Given the description of an element on the screen output the (x, y) to click on. 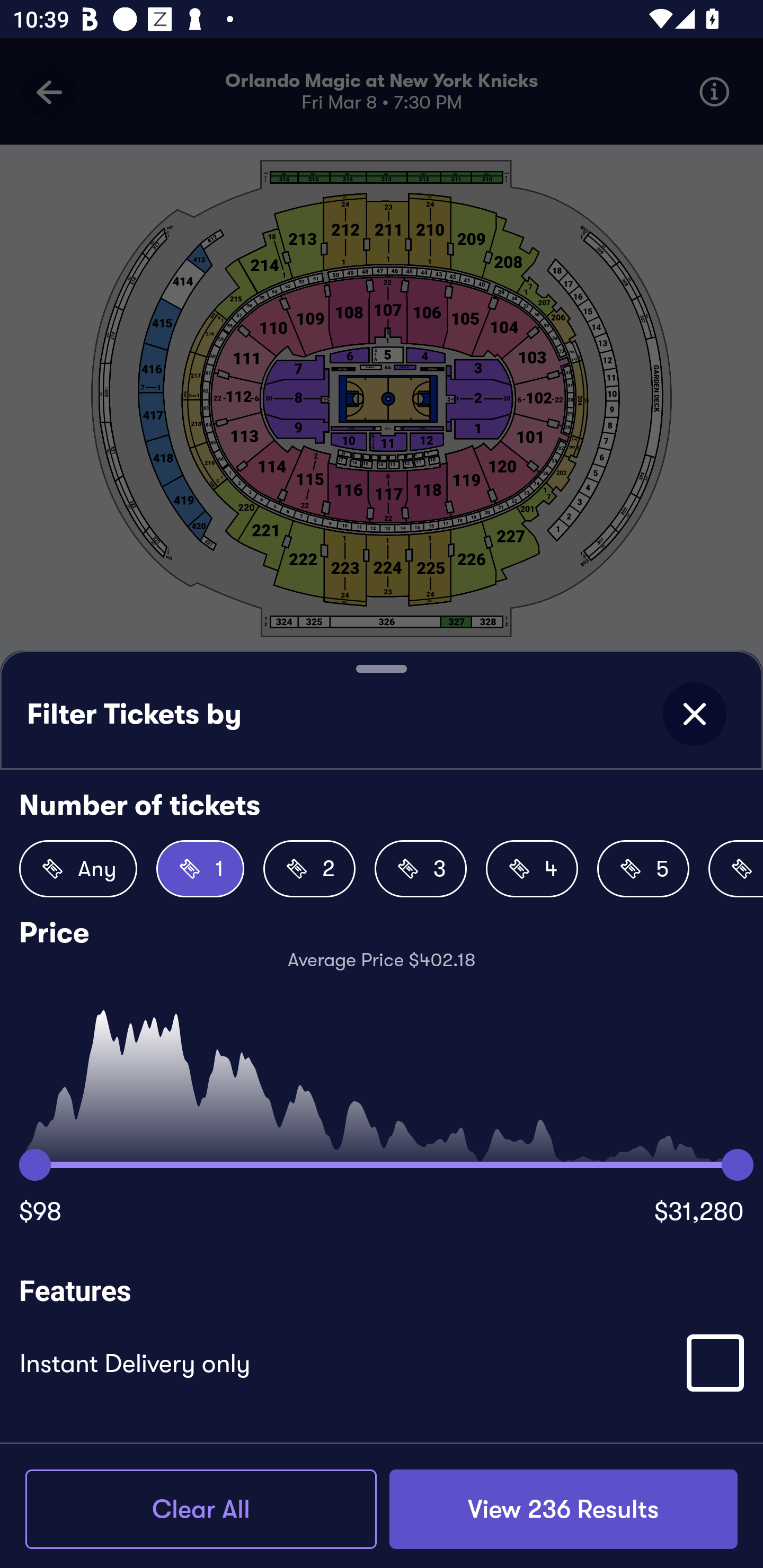
close (694, 714)
Any (78, 868)
1 (200, 868)
2 (309, 868)
3 (420, 868)
4 (532, 868)
5 (642, 868)
Clear All (200, 1509)
View 236 Results (563, 1509)
